Given the description of an element on the screen output the (x, y) to click on. 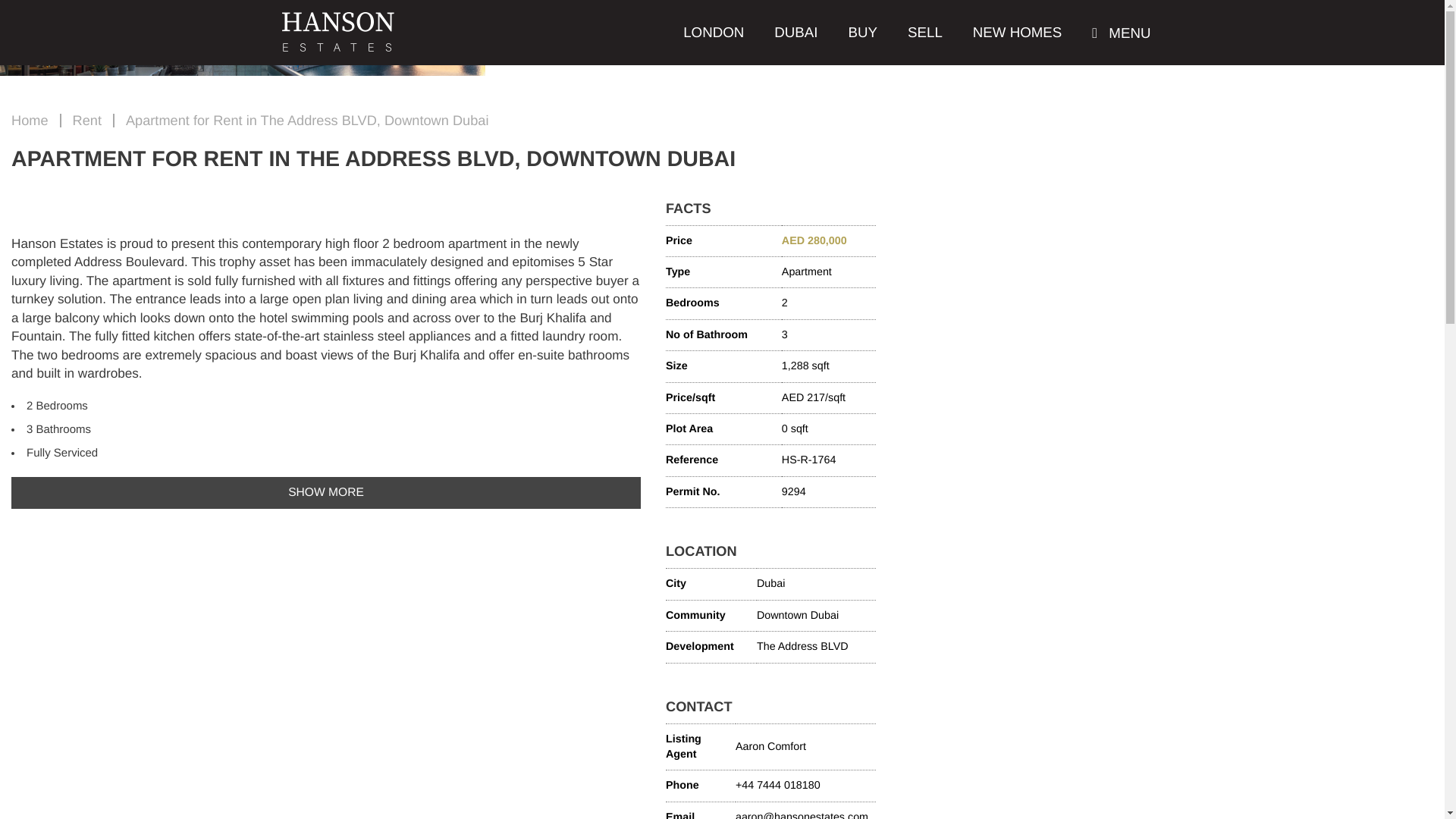
LONDON (713, 33)
BUY (862, 33)
Rent (86, 120)
Home (29, 120)
DUBAI (795, 33)
